Given the description of an element on the screen output the (x, y) to click on. 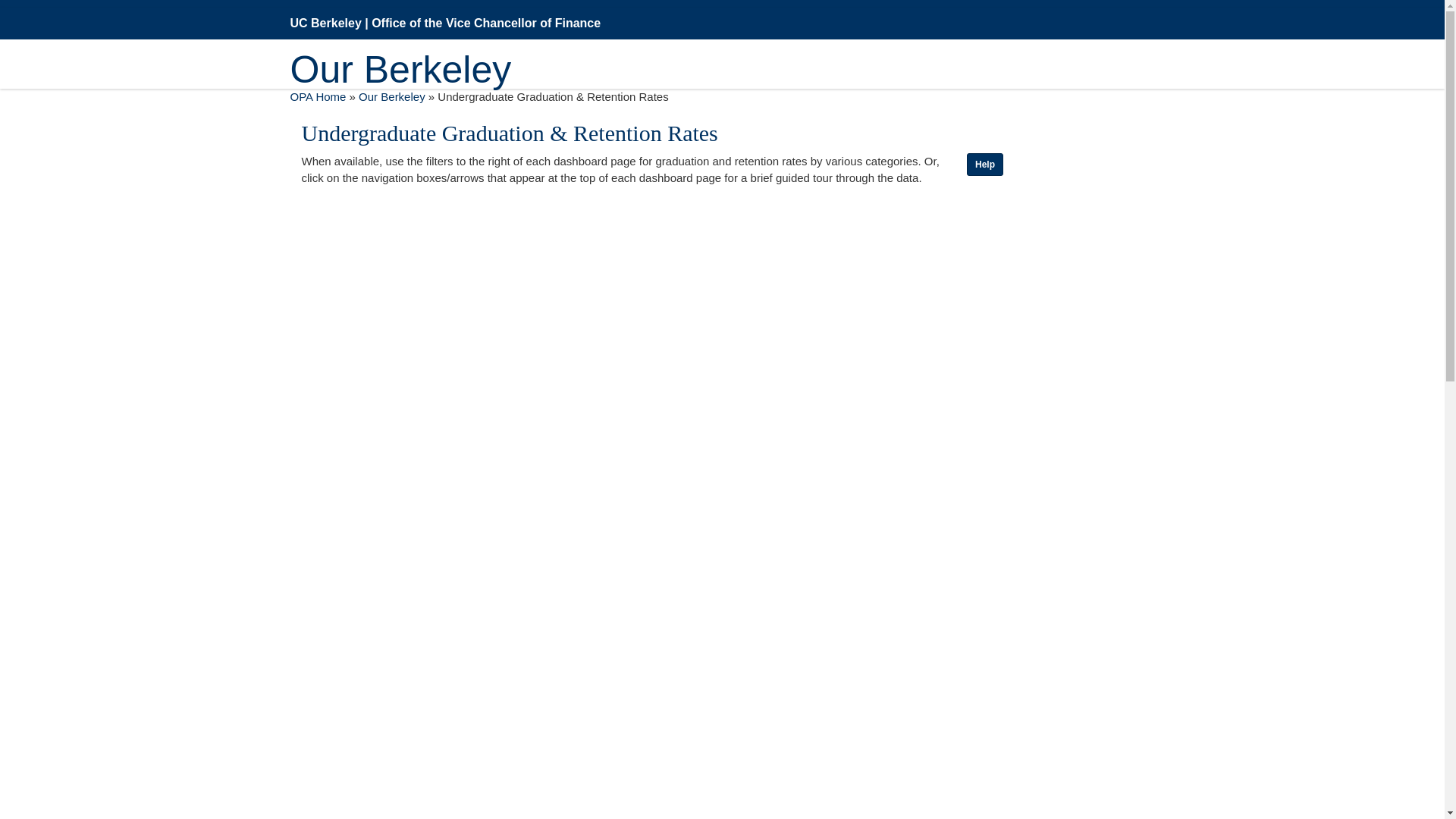
Skip to content (10, 10)
Help (984, 164)
OPA Home (317, 96)
Skip to content (10, 10)
Our Berkeley (391, 96)
Our Berkeley (400, 47)
